Given the description of an element on the screen output the (x, y) to click on. 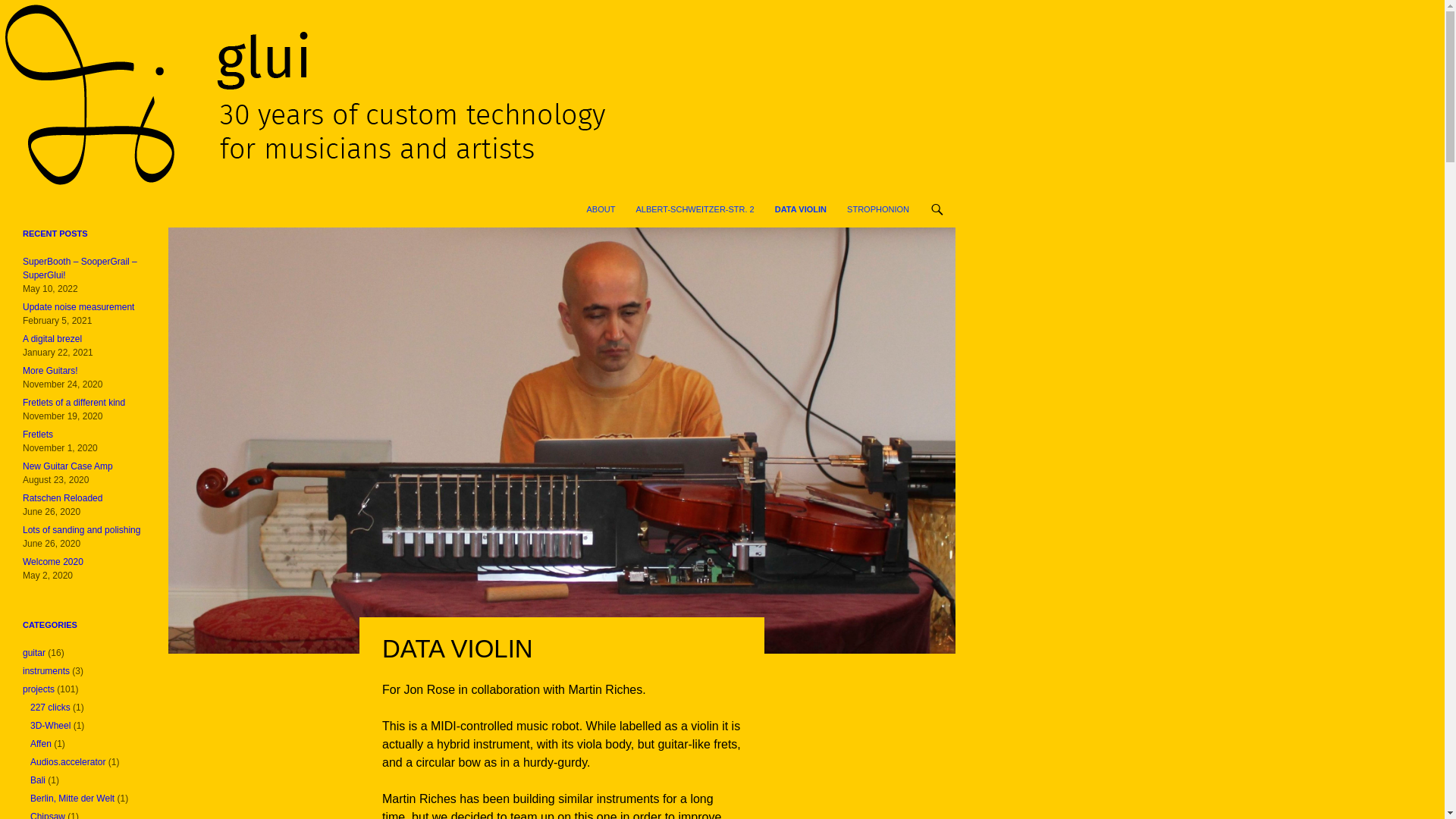
guitar (34, 652)
Chipsaw (47, 815)
Ratschen Reloaded (62, 498)
Fretlets of a different kind (74, 402)
DATA VIOLIN (800, 208)
Affen (40, 743)
Fretlets (37, 434)
ALBERT-SCHWEITZER-STR. 2 (694, 208)
Audios.accelerator (67, 761)
Lots of sanding and polishing (81, 529)
Welcome 2020 (52, 561)
instruments (46, 670)
New Guitar Case Amp (68, 466)
